Given the description of an element on the screen output the (x, y) to click on. 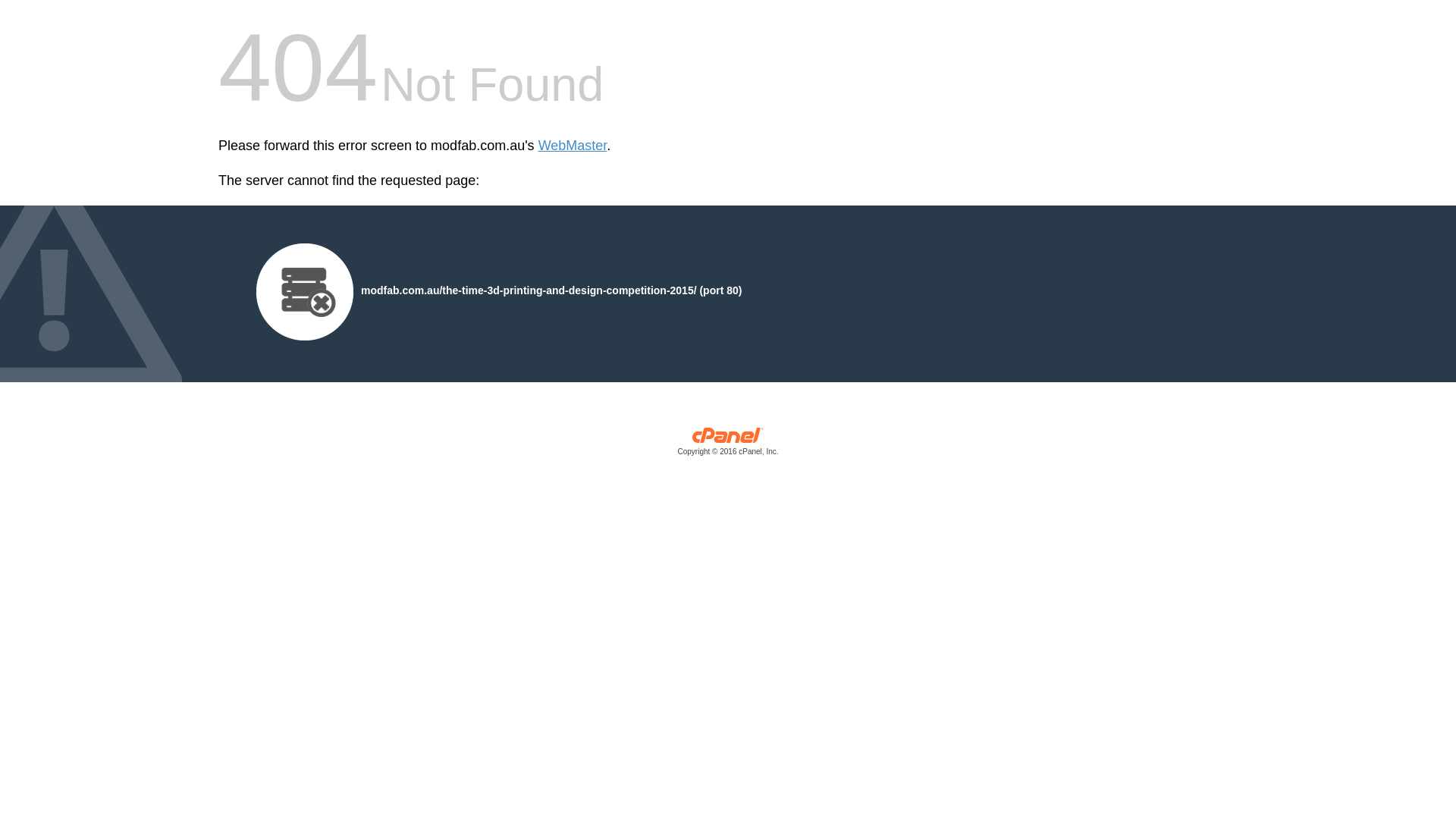
WebMaster Element type: text (572, 145)
